Given the description of an element on the screen output the (x, y) to click on. 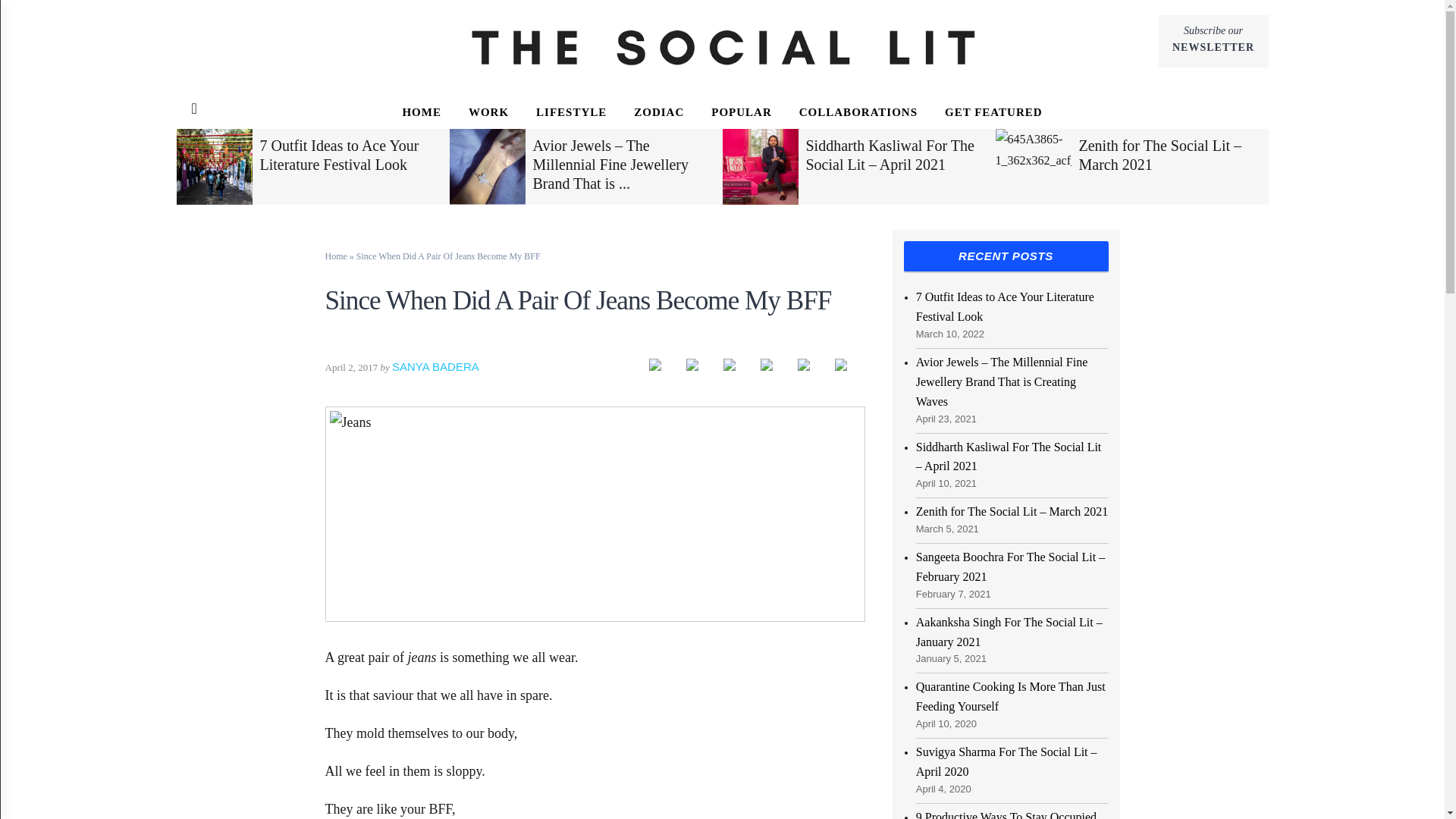
WORK (488, 111)
GET FEATURED (994, 111)
COLLABORATIONS (858, 111)
HOME (421, 111)
POPULAR (1213, 41)
LIFESTYLE (741, 111)
ZODIAC (571, 111)
